Given the description of an element on the screen output the (x, y) to click on. 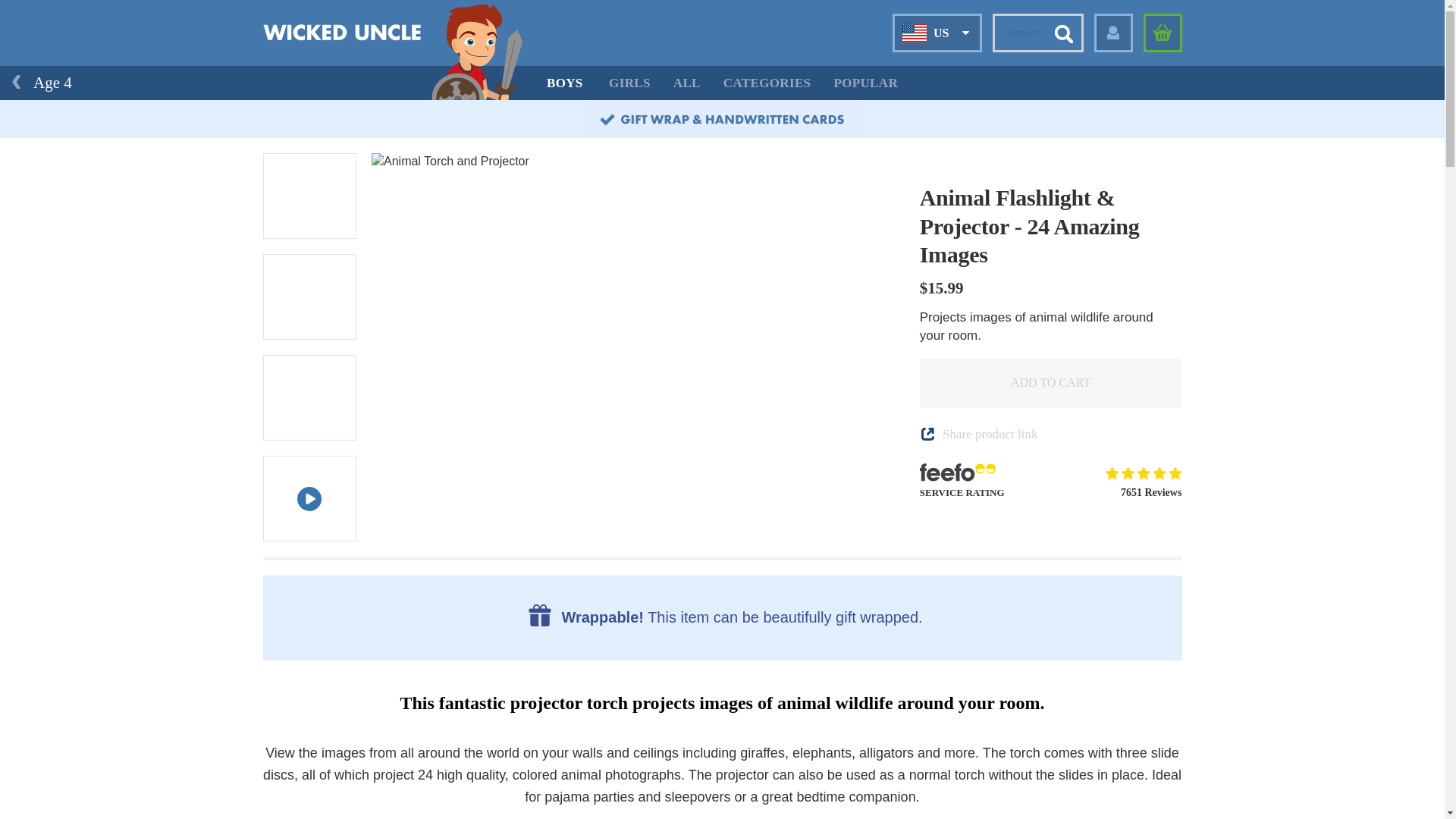
UK (919, 66)
GIRLS (629, 82)
BOYS (564, 82)
